Given the description of an element on the screen output the (x, y) to click on. 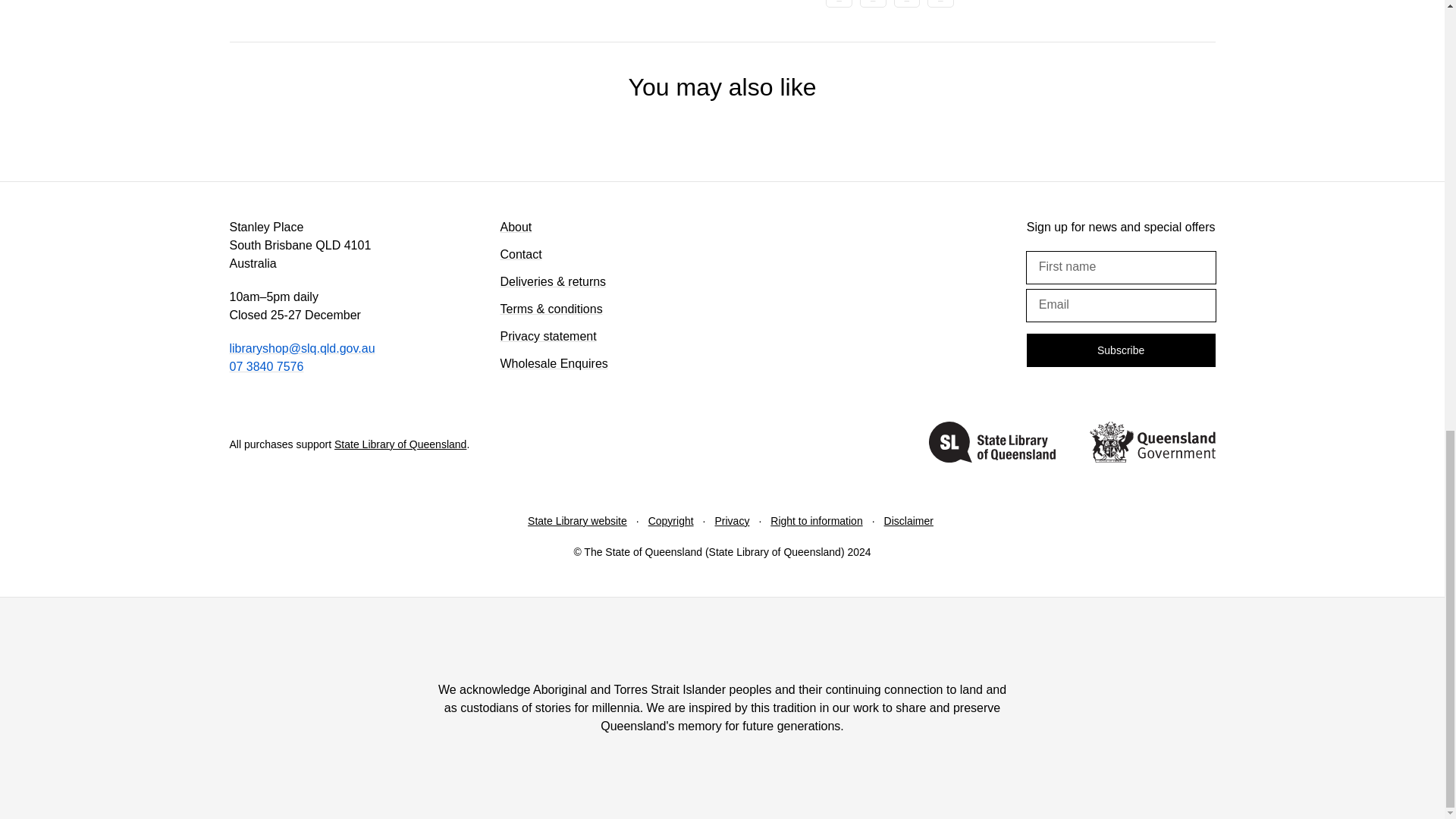
Go to Queensland Government homepage (1151, 444)
tel:07 3840 7576 (265, 366)
Go to Queensland State Library homepage (992, 444)
